Given the description of an element on the screen output the (x, y) to click on. 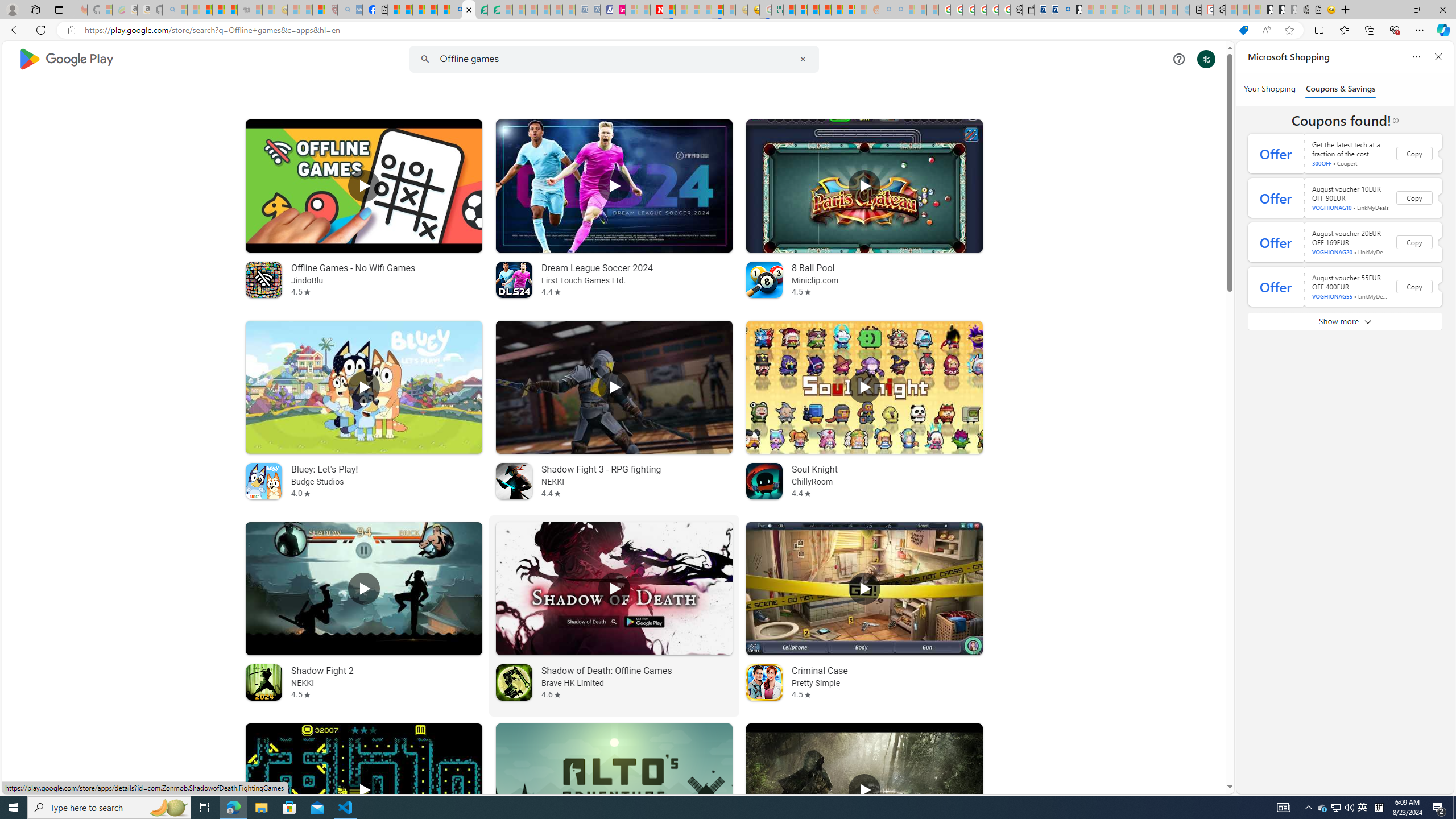
Add this page to favorites (Ctrl+D) (1289, 29)
New tab (1315, 9)
Cheap Hotels - Save70.com - Sleeping (593, 9)
Recipes - MSN - Sleeping (293, 9)
Play Shadow Fight 2 (363, 588)
Bing Real Estate - Home sales and rental listings (1063, 9)
Local - MSN (318, 9)
Cheap Car Rentals - Save70.com - Sleeping (581, 9)
Microsoft Word - consumer-privacy address update 2.2021 (494, 9)
Play Criminal Case (864, 588)
Microsoft account | Privacy - Sleeping (1111, 9)
